Given the description of an element on the screen output the (x, y) to click on. 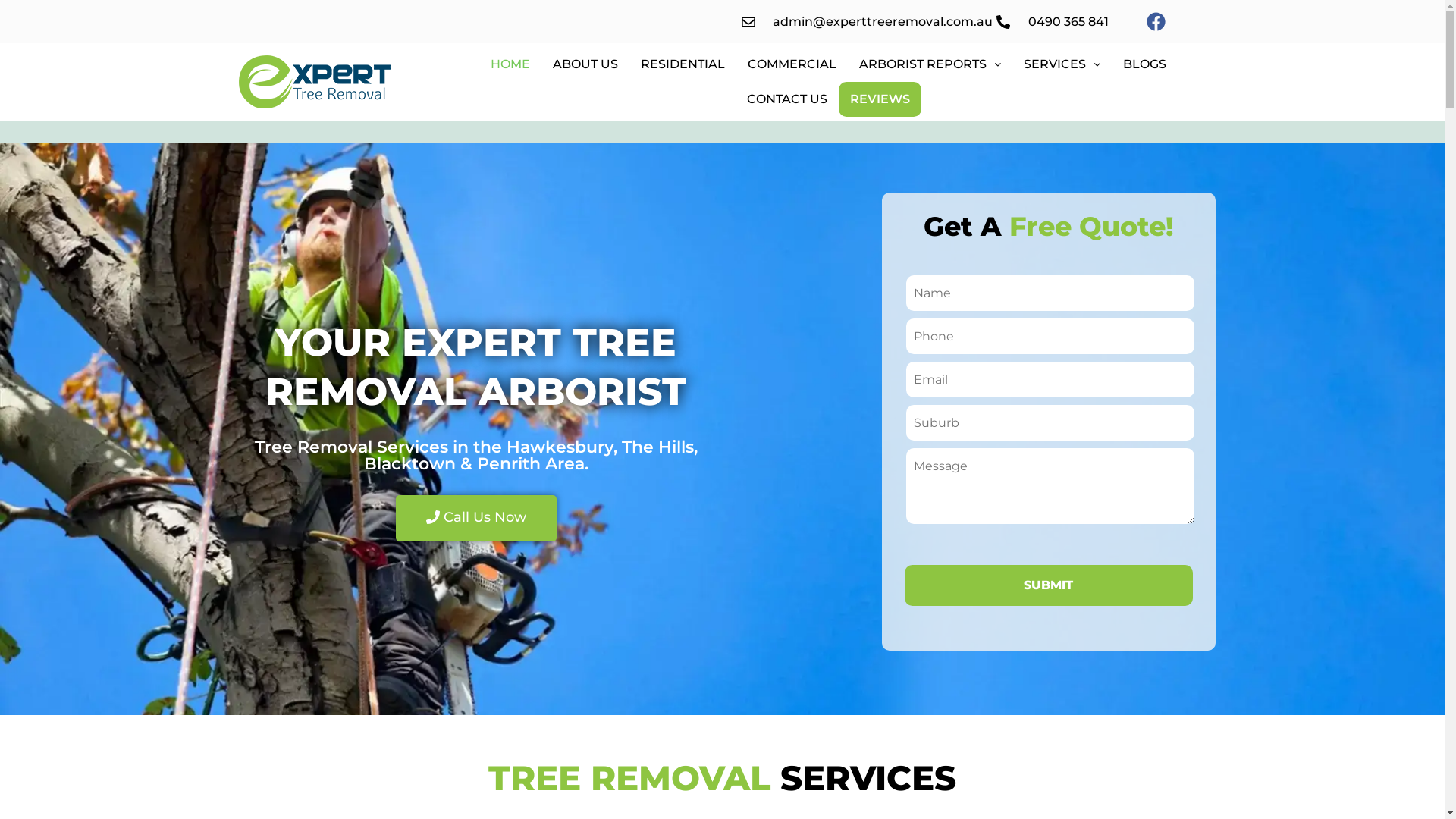
admin@experttreeremoval.com.au Element type: text (867, 21)
CONTACT US Element type: text (786, 98)
HOME Element type: text (510, 64)
Call Us Now Element type: text (475, 518)
BLOGS Element type: text (1144, 64)
REVIEWS Element type: text (879, 98)
RESIDENTIAL Element type: text (682, 64)
ABOUT US Element type: text (585, 64)
SERVICES Element type: text (1061, 64)
0490 365 841 Element type: text (1052, 21)
COMMERCIAL Element type: text (791, 64)
Submit Element type: text (1047, 584)
ARBORIST REPORTS Element type: text (929, 64)
